Given the description of an element on the screen output the (x, y) to click on. 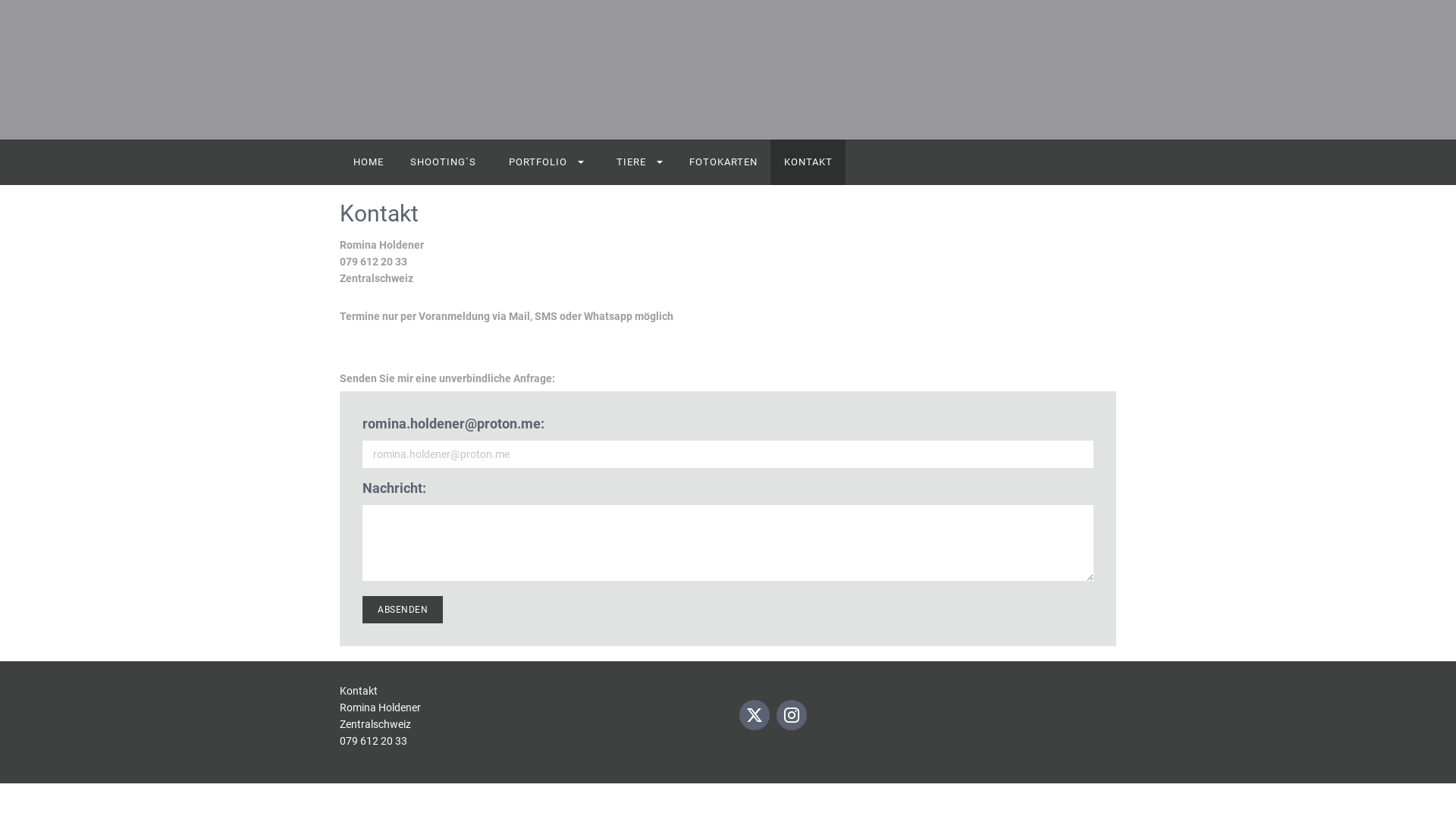
INSTAGRAM Element type: text (791, 714)
TWITTER Element type: text (754, 714)
SHOOTING`S Element type: text (442, 162)
FOTOKARTEN Element type: text (722, 162)
HOME Element type: text (367, 162)
ABSENDEN Element type: text (402, 609)
KONTAKT Element type: text (807, 162)
